Given the description of an element on the screen output the (x, y) to click on. 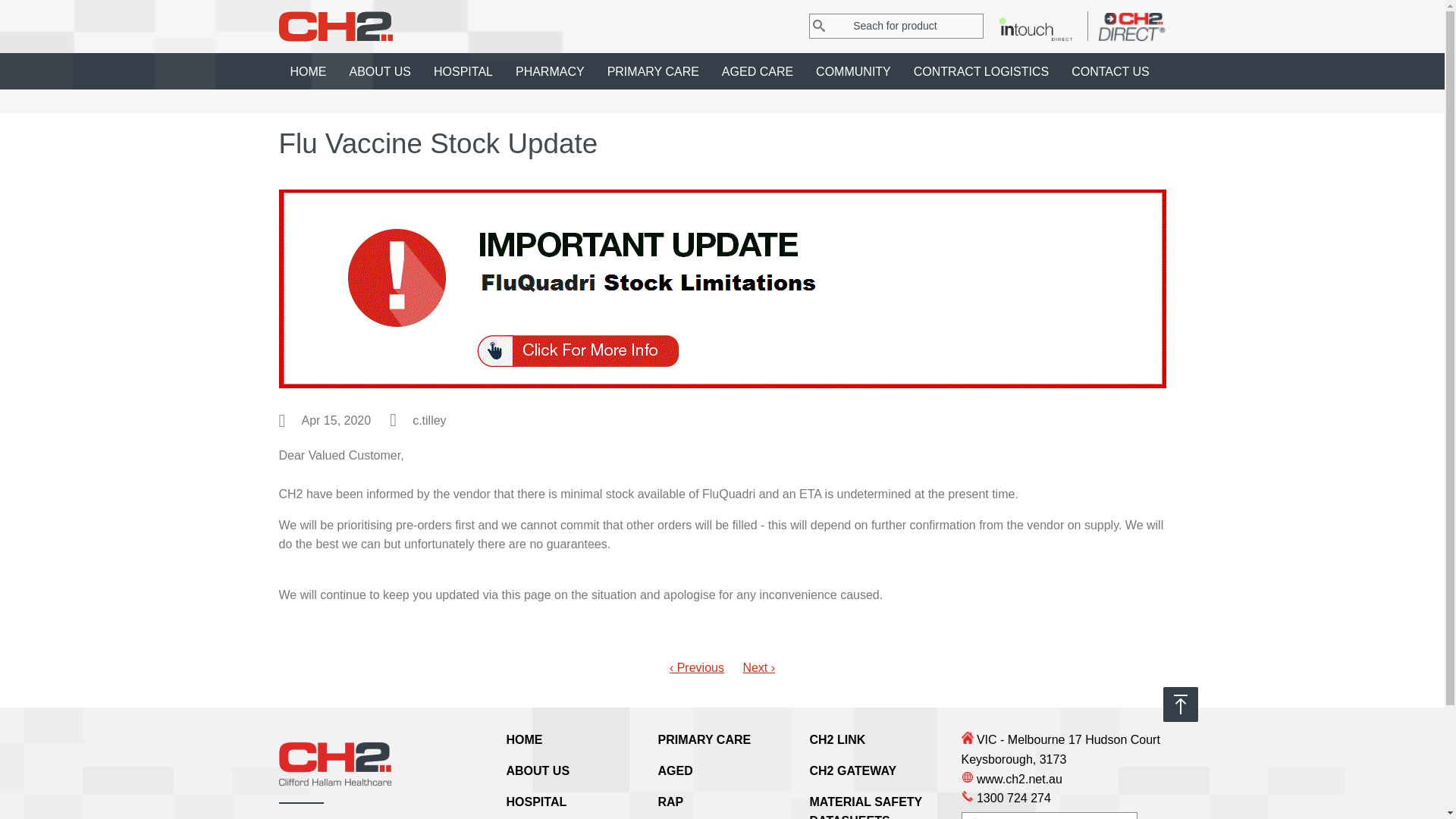
HOME Element type: text (308, 71)
PHARMACY Element type: text (550, 71)
CONTRACT LOGISTICS Element type: text (981, 71)
COMMUNITY Element type: text (853, 71)
HOSPITAL Element type: text (536, 801)
Flu Vaccine Stock Update  Element type: hover (722, 288)
AGED CARE Element type: text (757, 71)
CONTACT US Element type: text (1109, 71)
CH2 GATEWAY Element type: text (853, 770)
www.ch2.net.au Element type: text (1063, 779)
RAP Element type: text (671, 801)
ABOUT US Element type: text (380, 71)
ABOUT US Element type: text (538, 770)
AGED Element type: text (675, 770)
HOSPITAL Element type: text (463, 71)
CH2 LINK Element type: text (837, 739)
PRIMARY CARE Element type: text (704, 739)
PRIMARY CARE Element type: text (653, 71)
HOME Element type: text (524, 739)
